Given the description of an element on the screen output the (x, y) to click on. 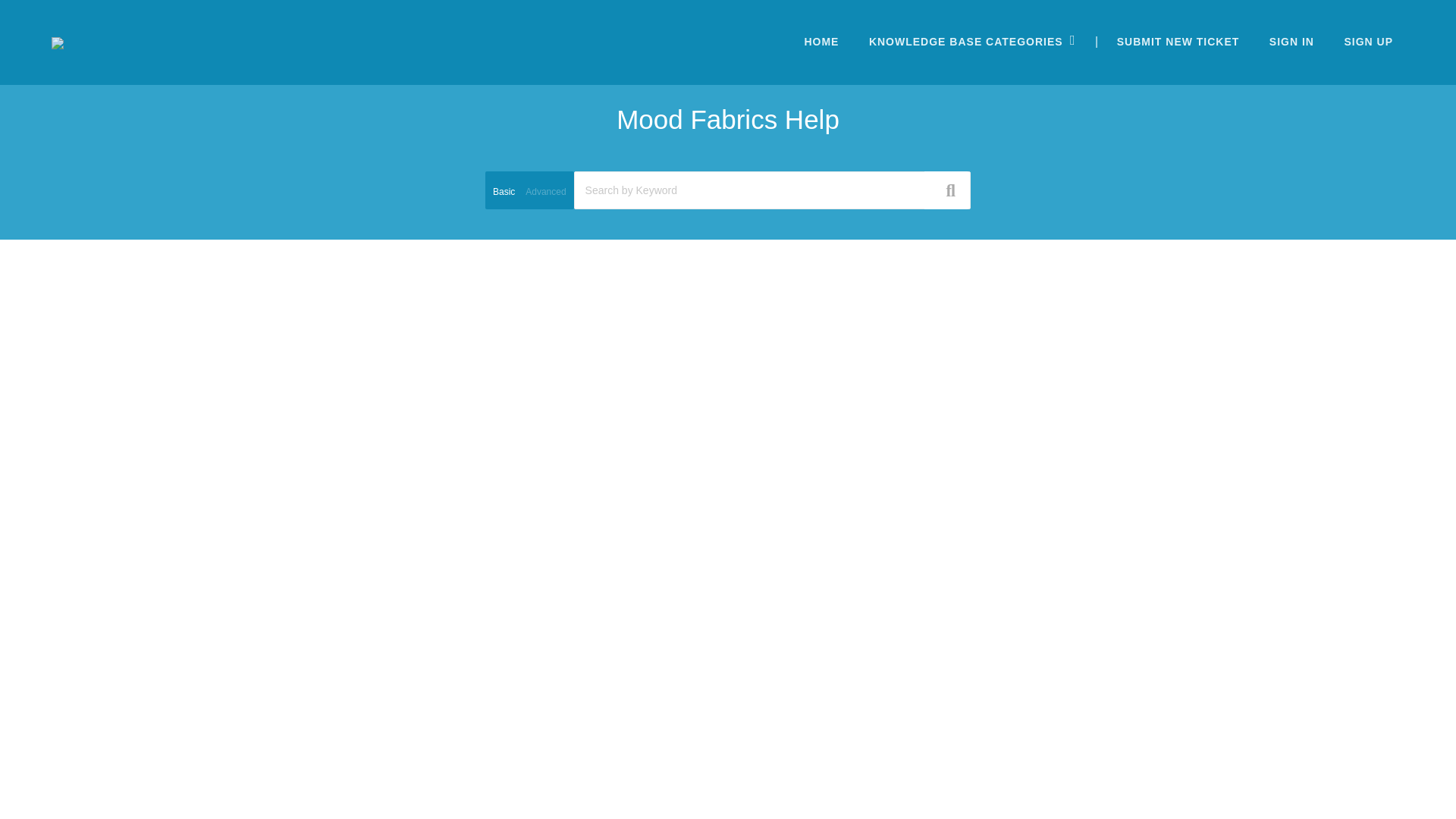
Search (727, 157)
Search button (946, 190)
HOME (821, 41)
SIGN UP (1368, 41)
SIGN IN (1290, 41)
Mood Fabrics Support Center (57, 42)
SUBMIT NEW TICKET (1177, 41)
Search (727, 131)
Search by Keyword (772, 190)
KNOWLEDGE BASE CATEGORIES (965, 41)
